Given the description of an element on the screen output the (x, y) to click on. 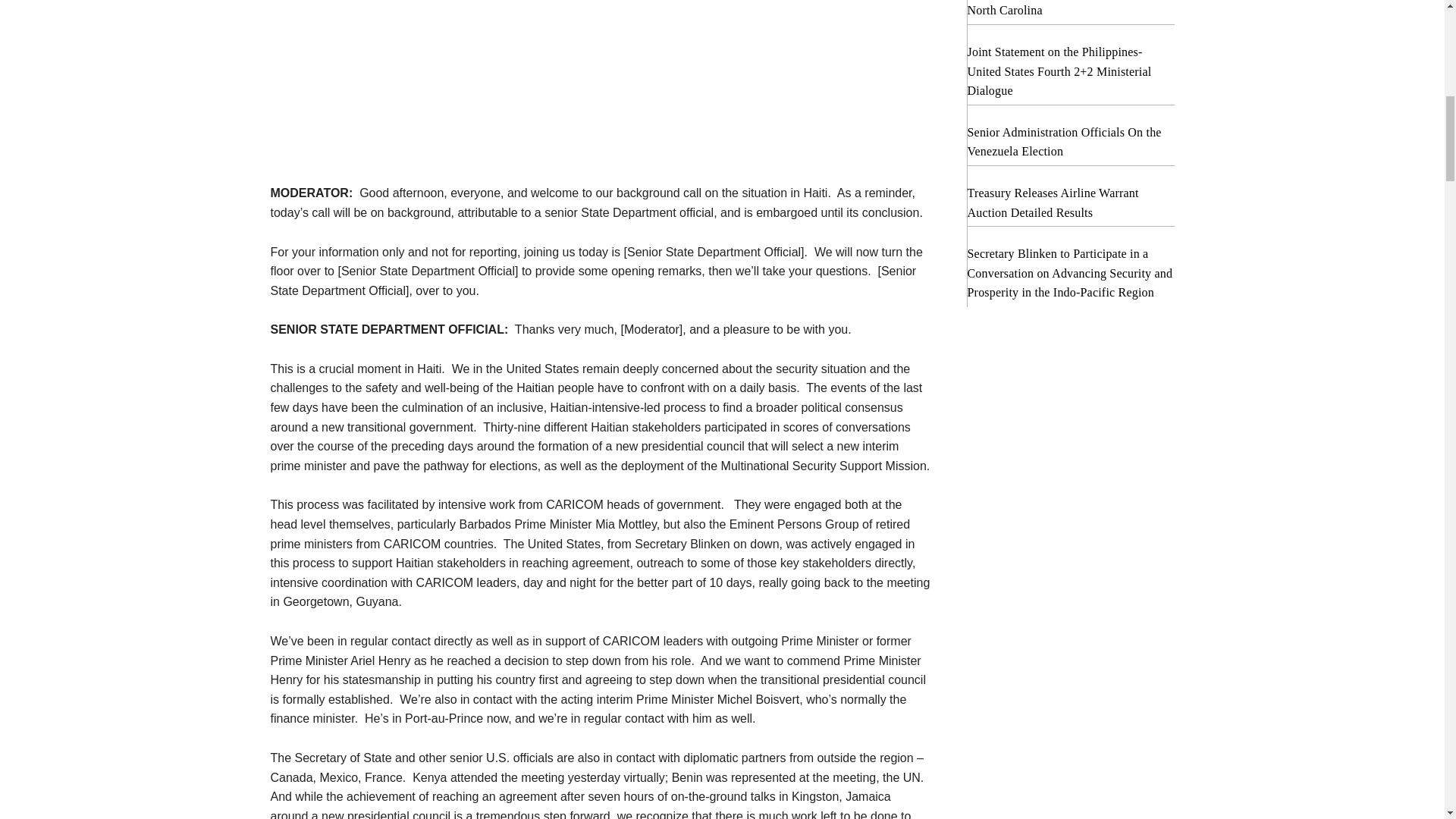
Treasury Releases Airline Warrant Auction Detailed Results (1053, 202)
Senior Administration Officials On the Venezuela Election (1064, 142)
Under Secretary Jenkins Travels to North Carolina (1055, 8)
